Given the description of an element on the screen output the (x, y) to click on. 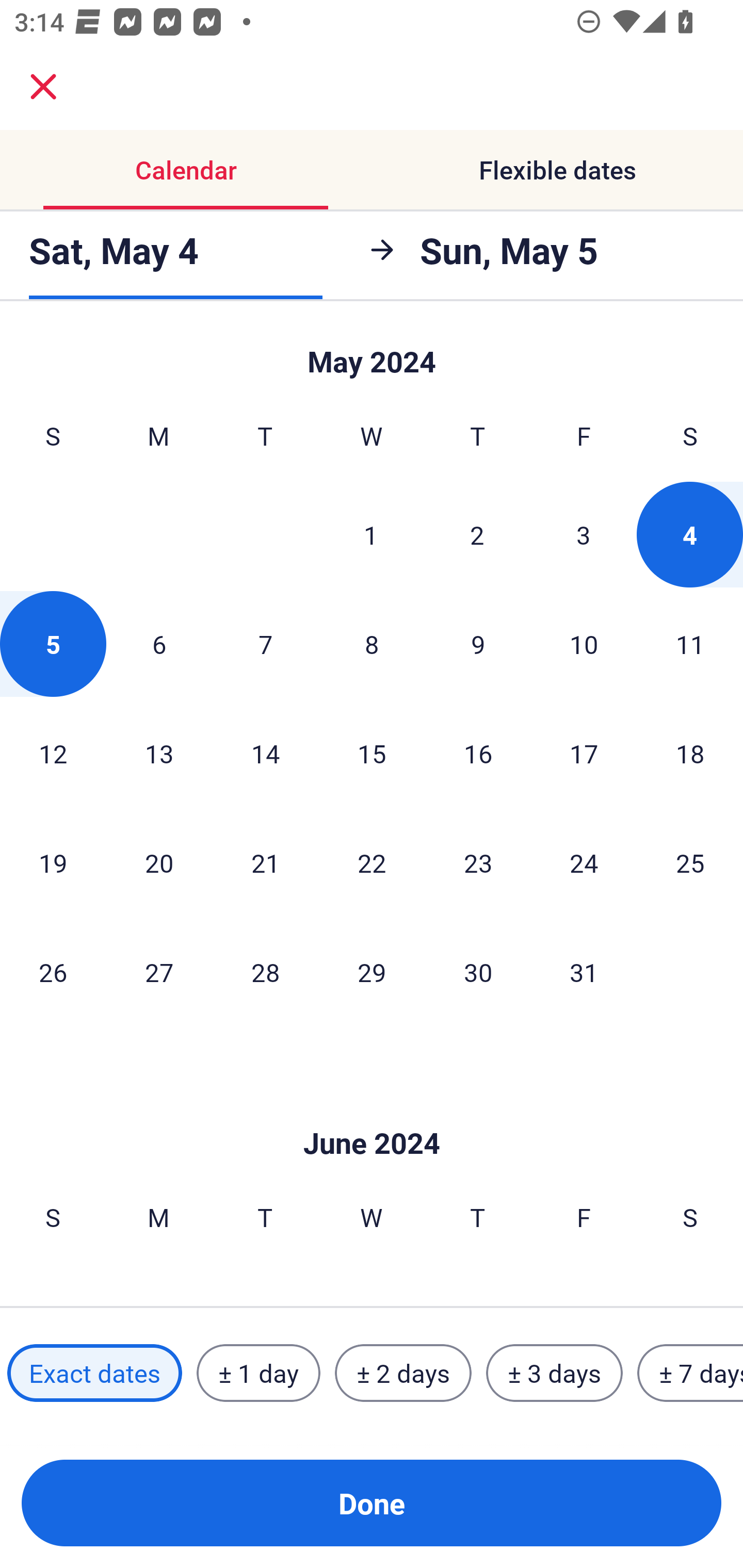
close. (43, 86)
Flexible dates (557, 170)
Skip to Done (371, 352)
1 Wednesday, May 1, 2024 (371, 534)
2 Thursday, May 2, 2024 (477, 534)
3 Friday, May 3, 2024 (583, 534)
6 Monday, May 6, 2024 (159, 643)
7 Tuesday, May 7, 2024 (265, 643)
8 Wednesday, May 8, 2024 (371, 643)
9 Thursday, May 9, 2024 (477, 643)
10 Friday, May 10, 2024 (584, 643)
11 Saturday, May 11, 2024 (690, 643)
12 Sunday, May 12, 2024 (53, 752)
13 Monday, May 13, 2024 (159, 752)
14 Tuesday, May 14, 2024 (265, 752)
15 Wednesday, May 15, 2024 (371, 752)
16 Thursday, May 16, 2024 (477, 752)
17 Friday, May 17, 2024 (584, 752)
18 Saturday, May 18, 2024 (690, 752)
19 Sunday, May 19, 2024 (53, 862)
20 Monday, May 20, 2024 (159, 862)
21 Tuesday, May 21, 2024 (265, 862)
22 Wednesday, May 22, 2024 (371, 862)
23 Thursday, May 23, 2024 (477, 862)
24 Friday, May 24, 2024 (584, 862)
25 Saturday, May 25, 2024 (690, 862)
26 Sunday, May 26, 2024 (53, 971)
27 Monday, May 27, 2024 (159, 971)
28 Tuesday, May 28, 2024 (265, 971)
29 Wednesday, May 29, 2024 (371, 971)
30 Thursday, May 30, 2024 (477, 971)
31 Friday, May 31, 2024 (584, 971)
Skip to Done (371, 1112)
Exact dates (94, 1372)
± 1 day (258, 1372)
± 2 days (403, 1372)
± 3 days (553, 1372)
± 7 days (690, 1372)
Done (371, 1502)
